Given the description of an element on the screen output the (x, y) to click on. 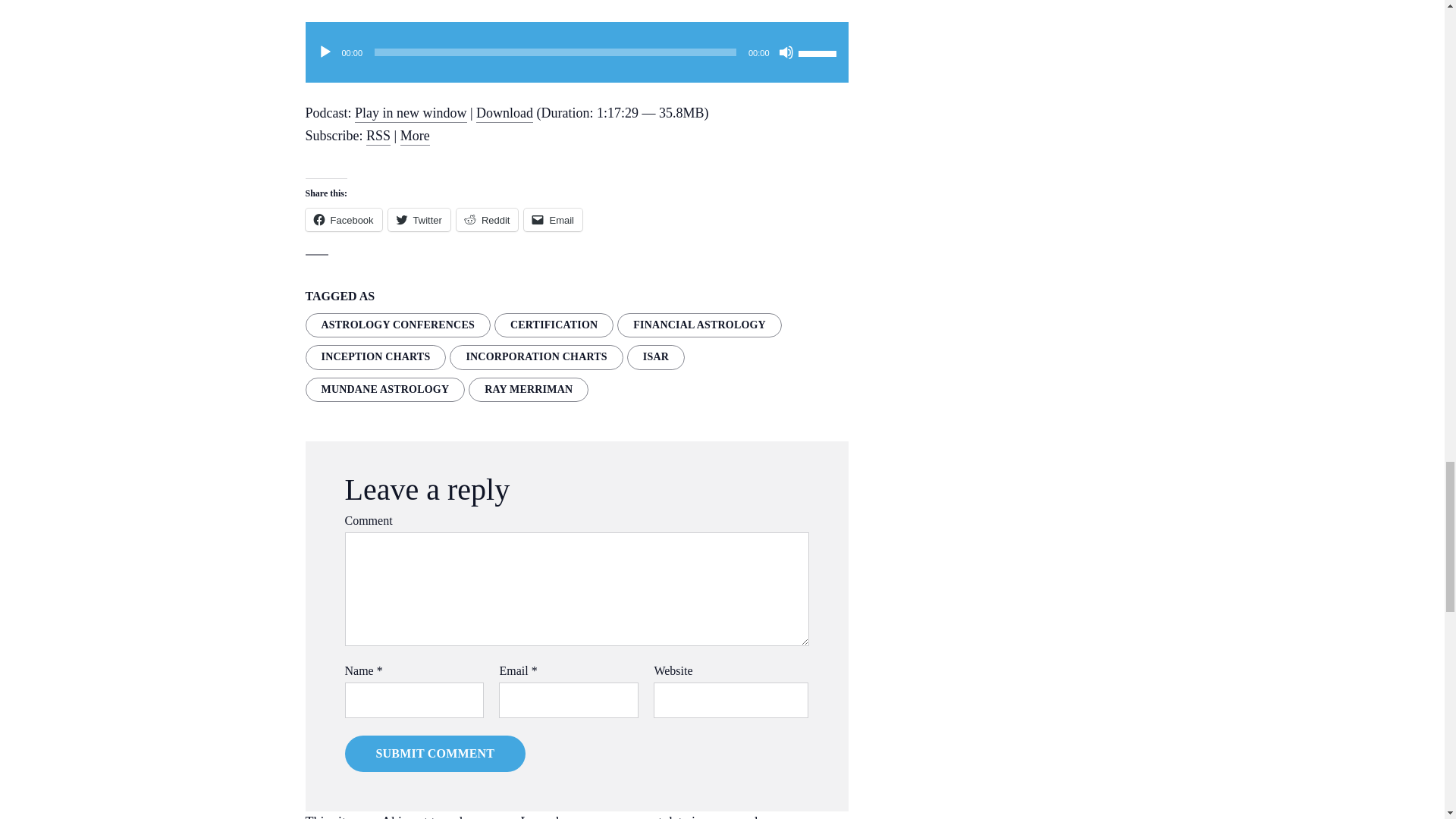
Click to share on Facebook (342, 219)
Click to share on Reddit (487, 219)
Click to email a link to a friend (553, 219)
Play in new window (411, 113)
Click to share on Twitter (418, 219)
Submit Comment (434, 753)
Mute (785, 52)
Download (504, 113)
Subscribe via RSS (378, 135)
More (414, 135)
Play (324, 52)
